Given the description of an element on the screen output the (x, y) to click on. 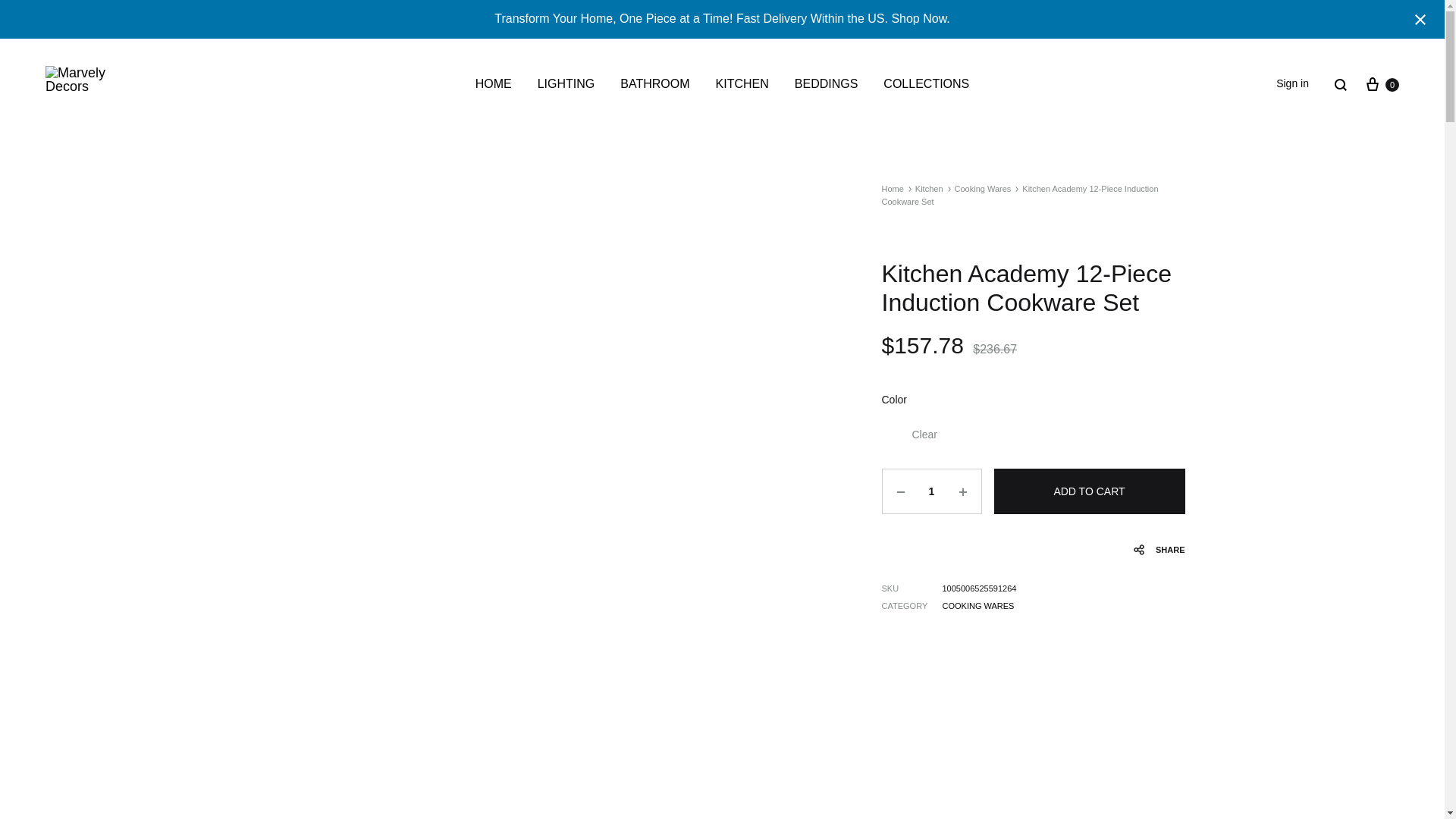
HOME (494, 84)
KITCHEN (742, 84)
Clear (923, 434)
Sign in (1292, 84)
BEDDINGS (1380, 84)
BATHROOM (826, 84)
Kitchen (654, 84)
Cooking Wares (929, 188)
COOKING WARES (983, 188)
